Given the description of an element on the screen output the (x, y) to click on. 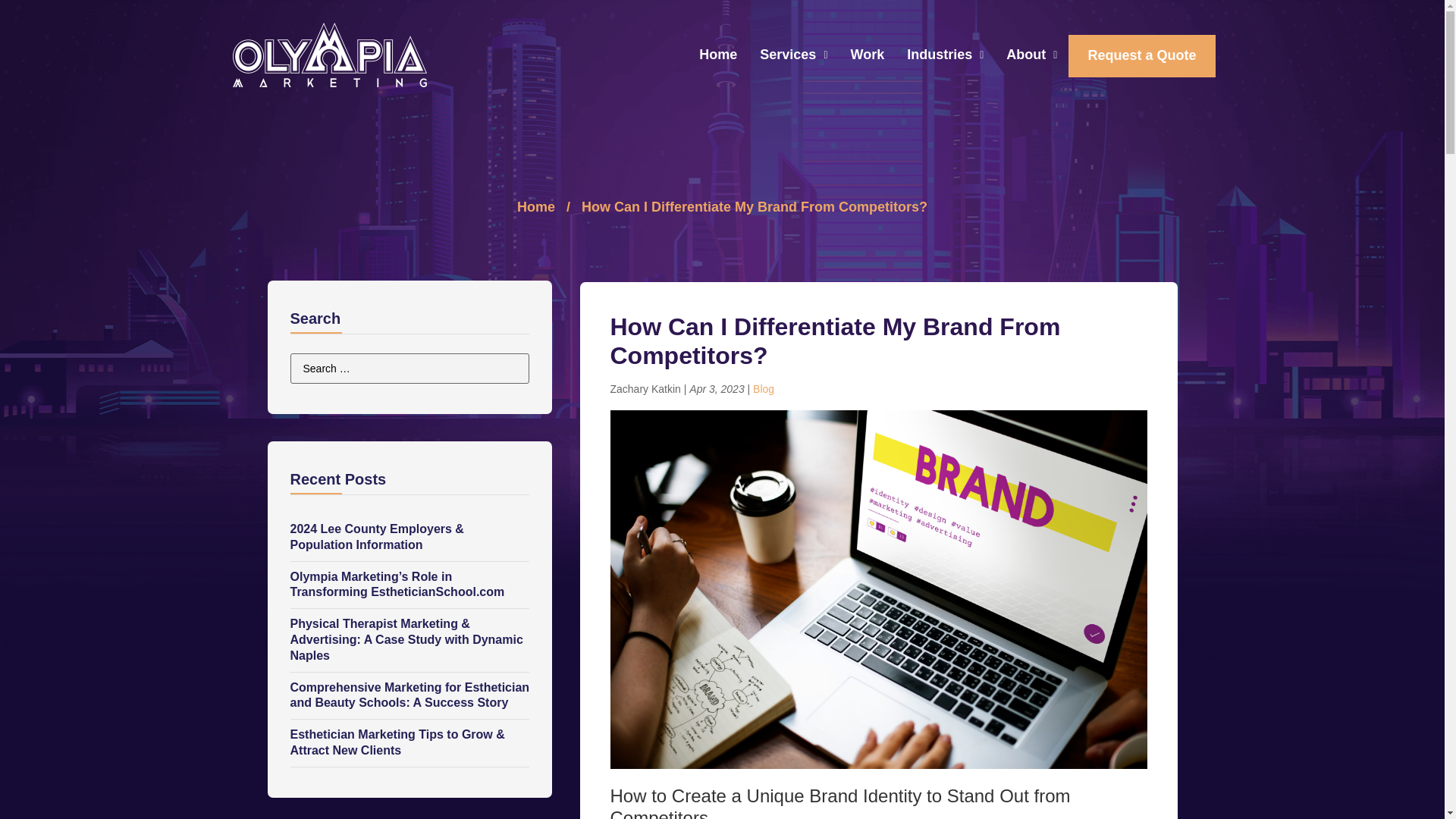
About (1031, 55)
Industries (944, 55)
Services (793, 55)
Home (717, 55)
Work (868, 55)
